Given the description of an element on the screen output the (x, y) to click on. 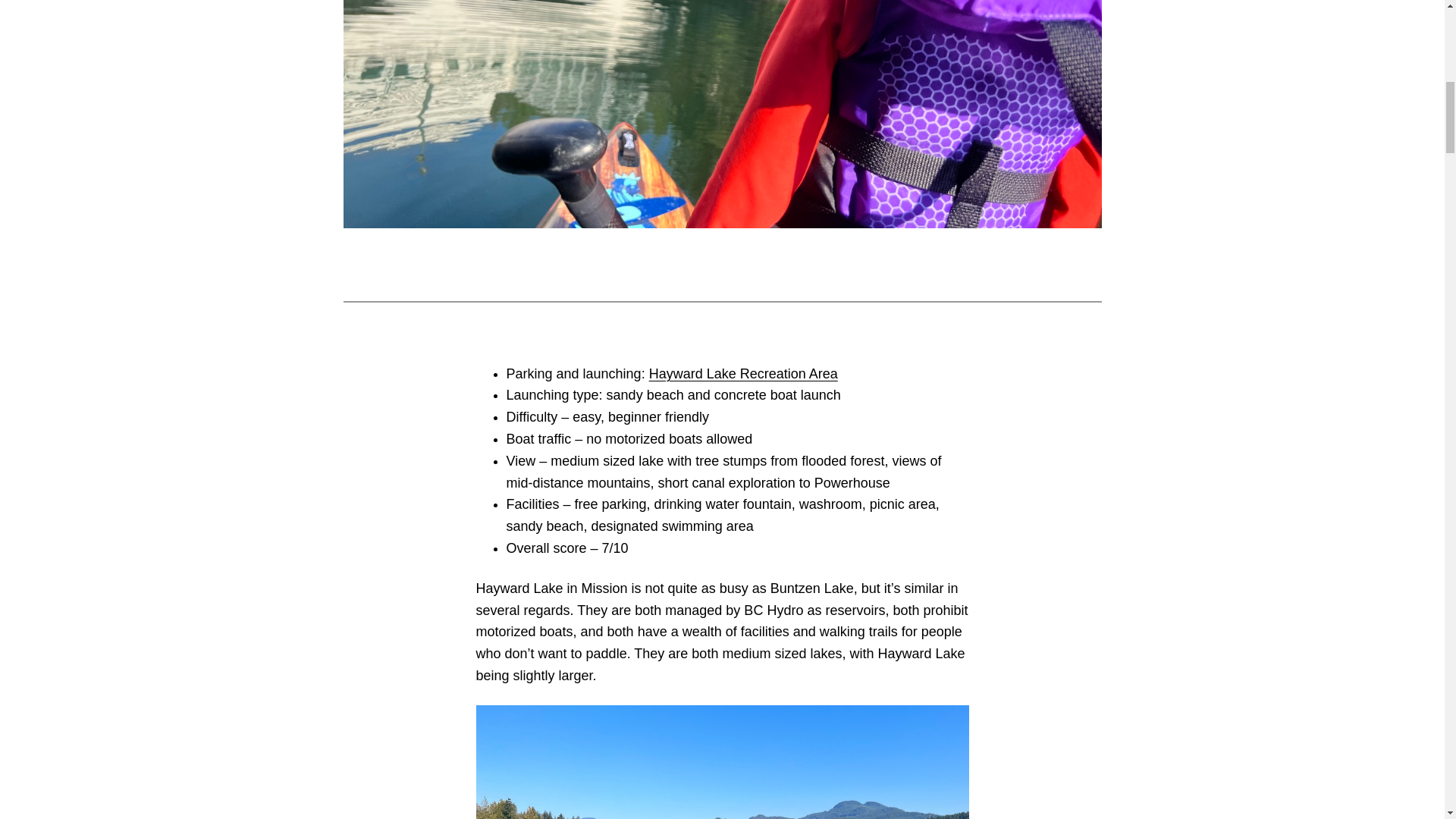
Hayward Lake Recreation Area (743, 373)
